Given the description of an element on the screen output the (x, y) to click on. 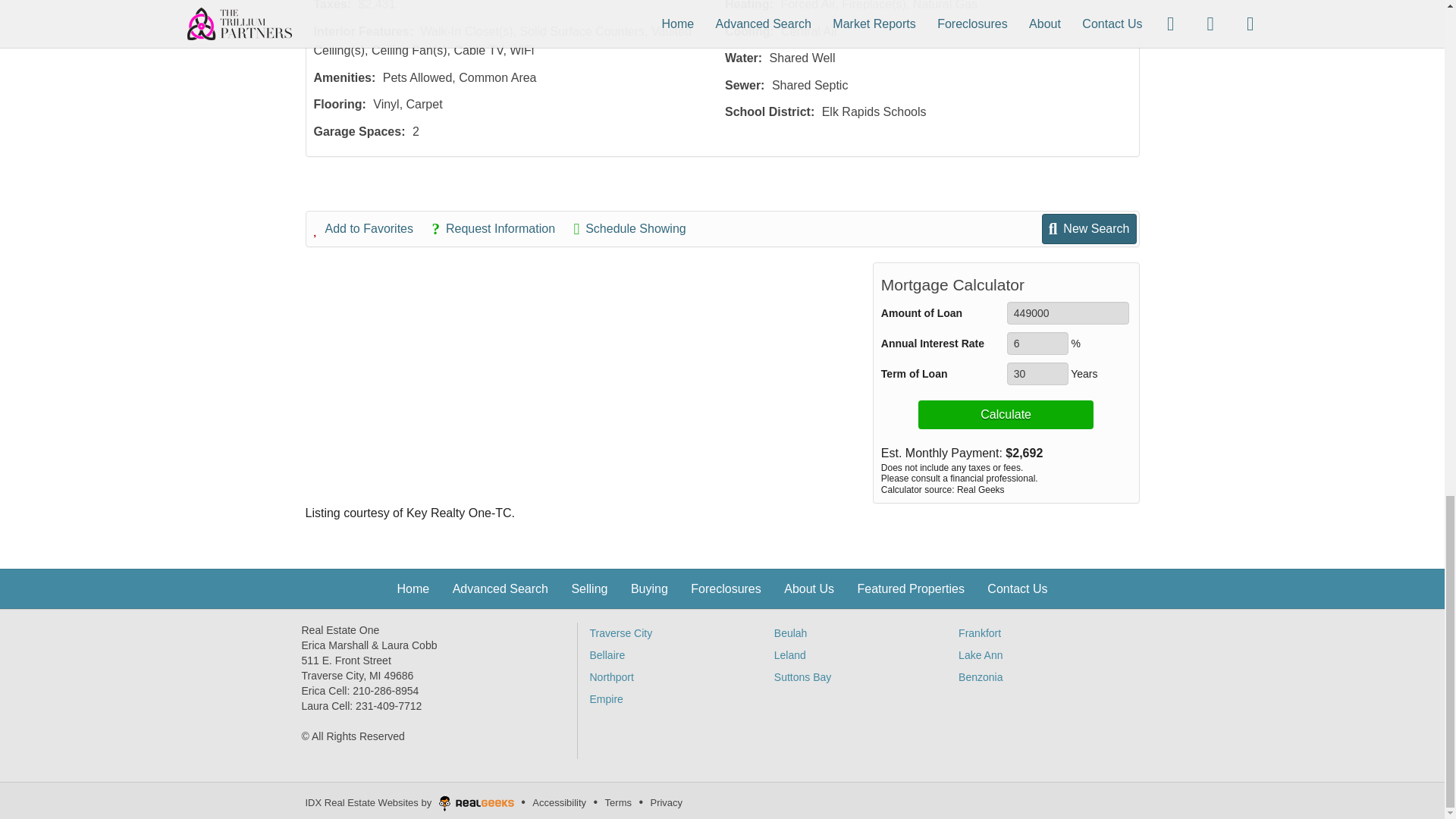
30 (1037, 373)
449000 (1068, 313)
6 (1037, 343)
